Given the description of an element on the screen output the (x, y) to click on. 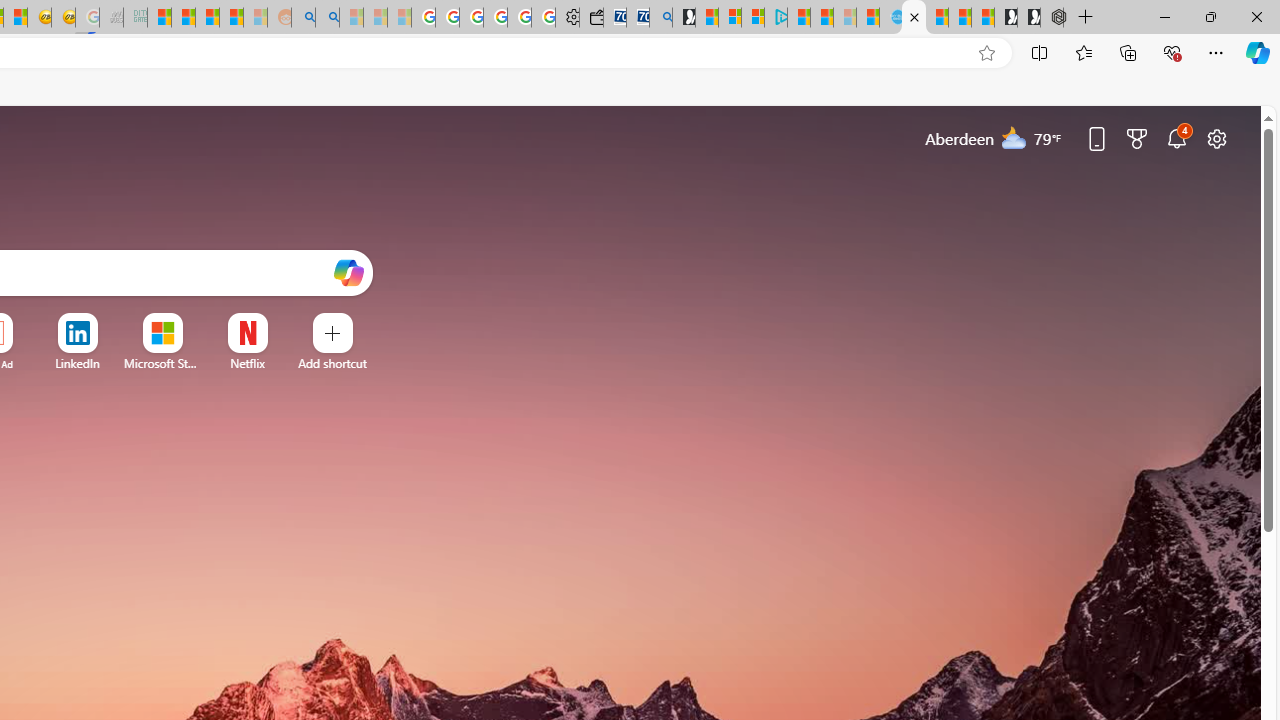
Netflix (247, 363)
Add a site (332, 363)
